Given the description of an element on the screen output the (x, y) to click on. 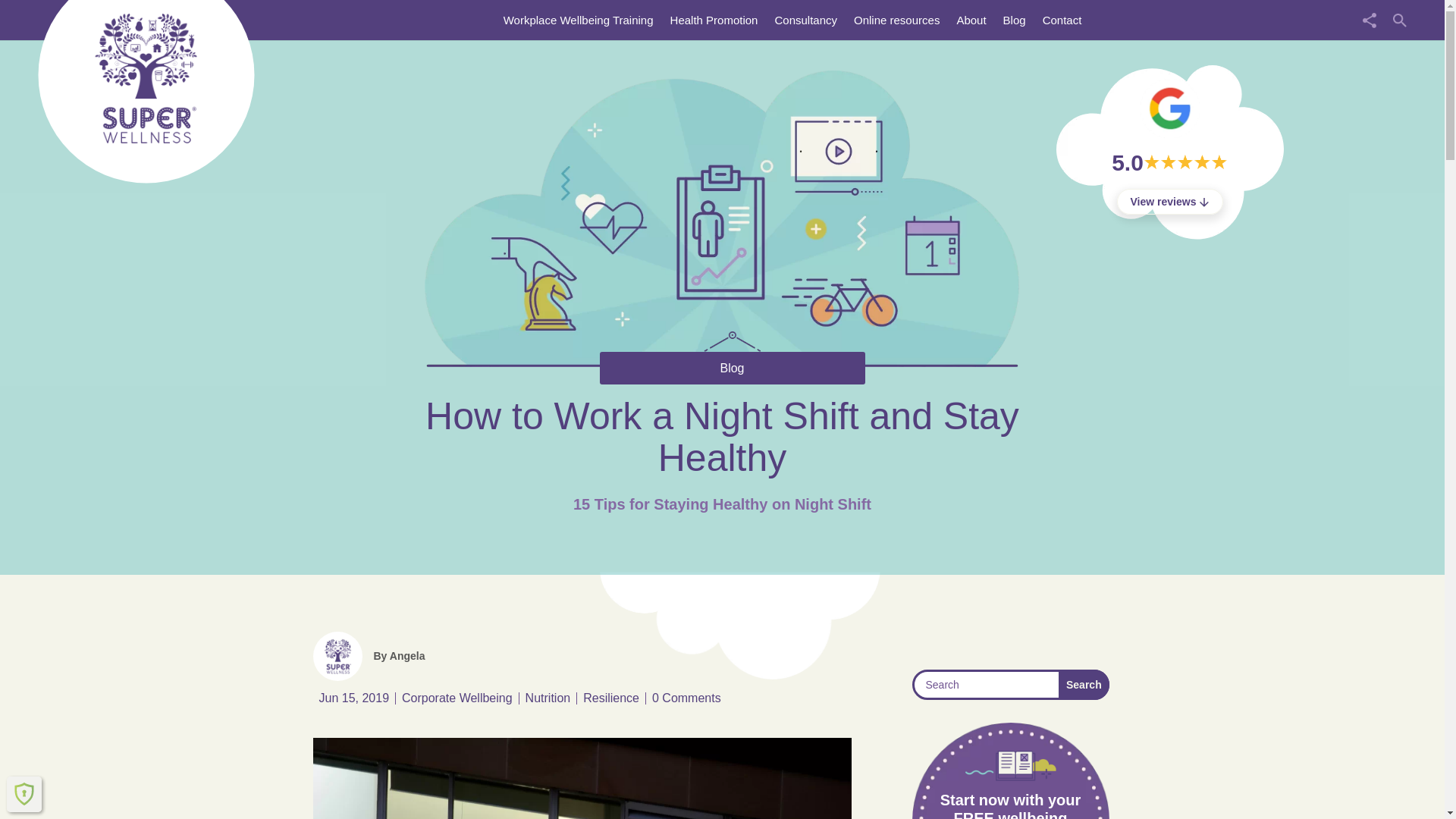
Search (1083, 684)
Workplace Wellbeing Training (578, 20)
Online resources (896, 20)
Health Promotion (713, 20)
Consultancy (805, 20)
